Given the description of an element on the screen output the (x, y) to click on. 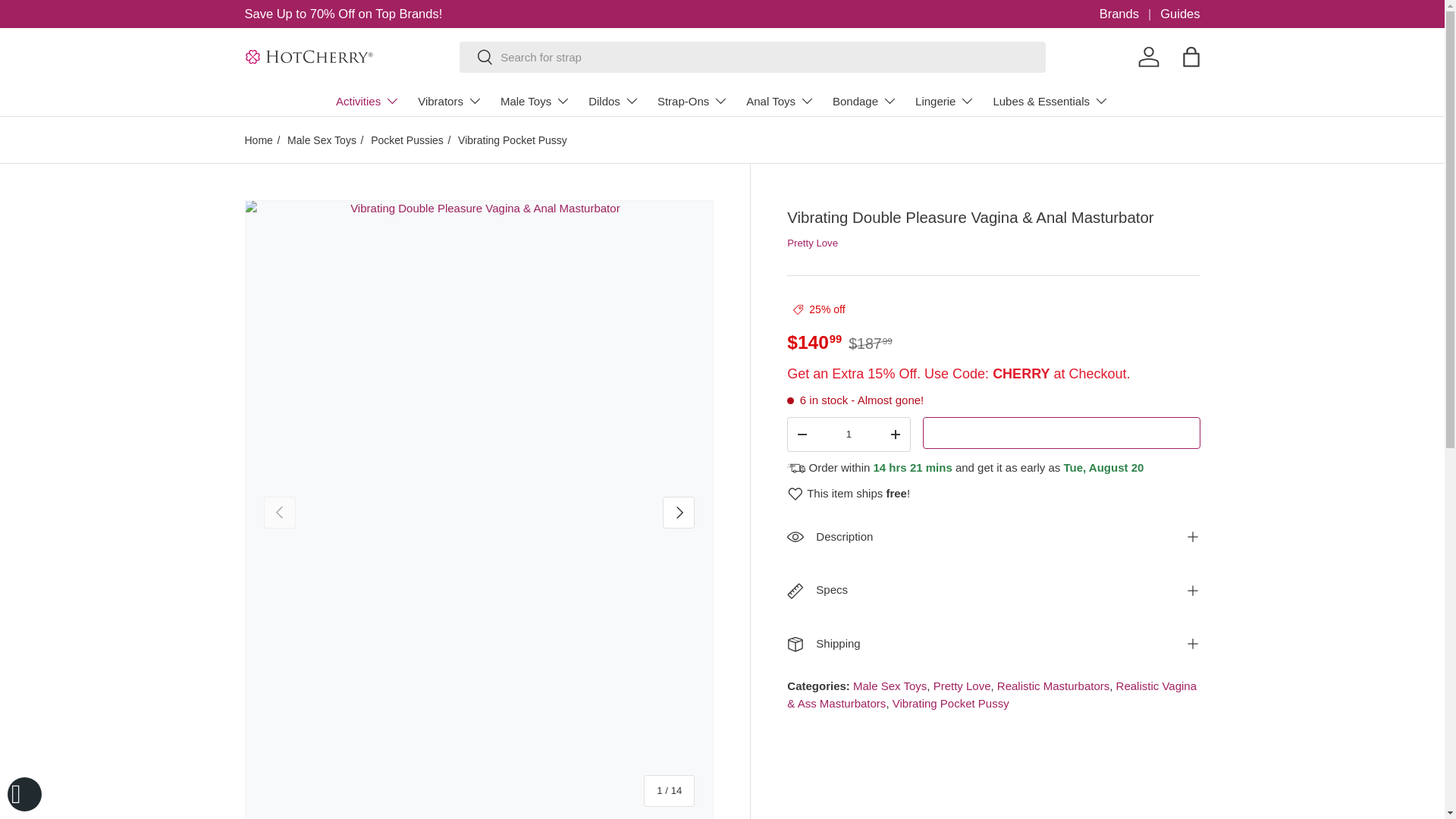
Brands (1129, 13)
Skip to content (68, 21)
Activities (367, 100)
1 (848, 434)
Guides (1179, 13)
Log in (1147, 56)
Vibrators (449, 100)
Search (476, 58)
Bag (1190, 56)
